Given the description of an element on the screen output the (x, y) to click on. 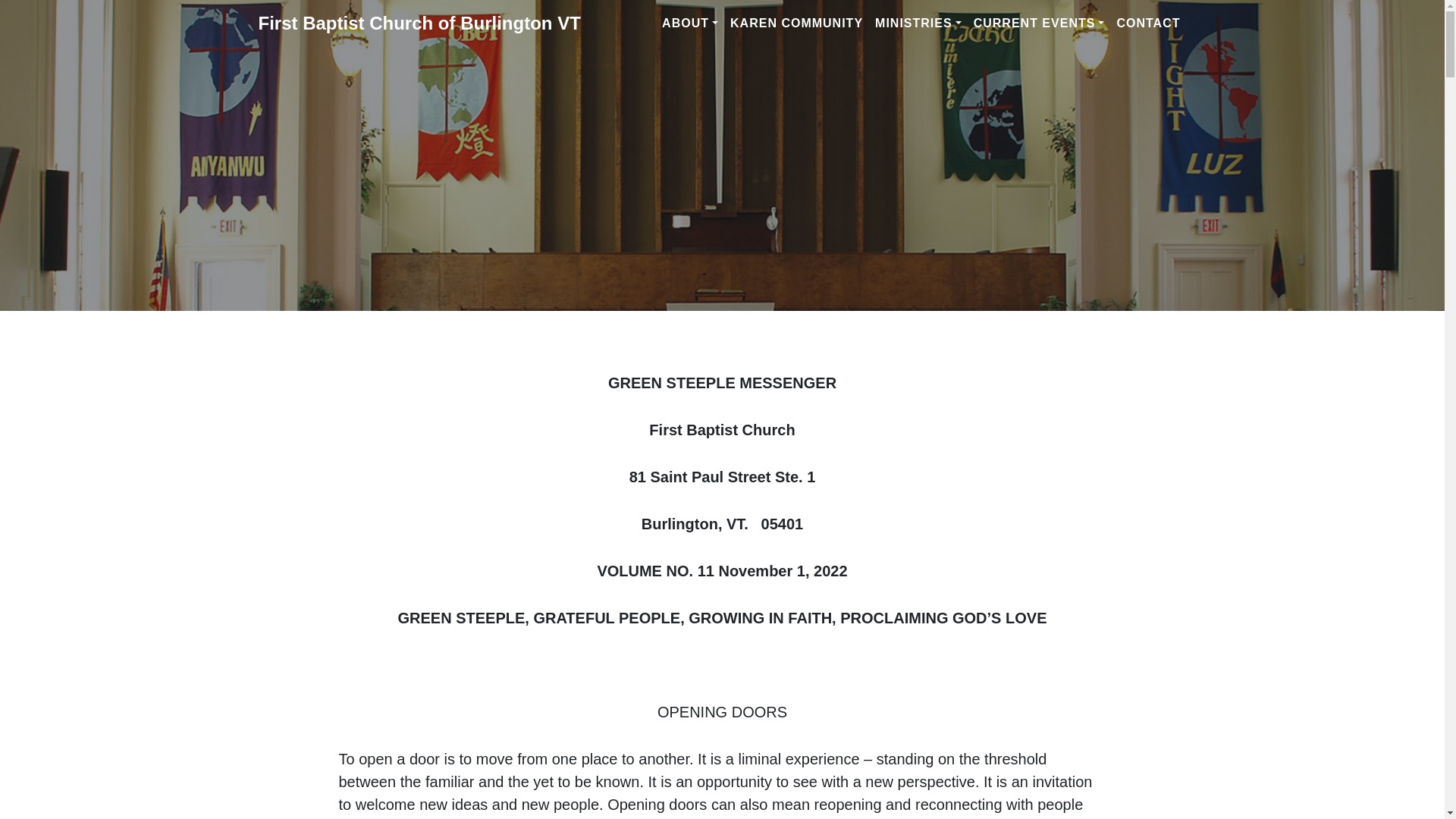
MINISTRIES (918, 23)
ABOUT (689, 23)
CONTACT (1147, 23)
KAREN COMMUNITY (796, 23)
First Baptist Church of Burlington VT (418, 22)
CURRENT EVENTS (1039, 23)
